Given the description of an element on the screen output the (x, y) to click on. 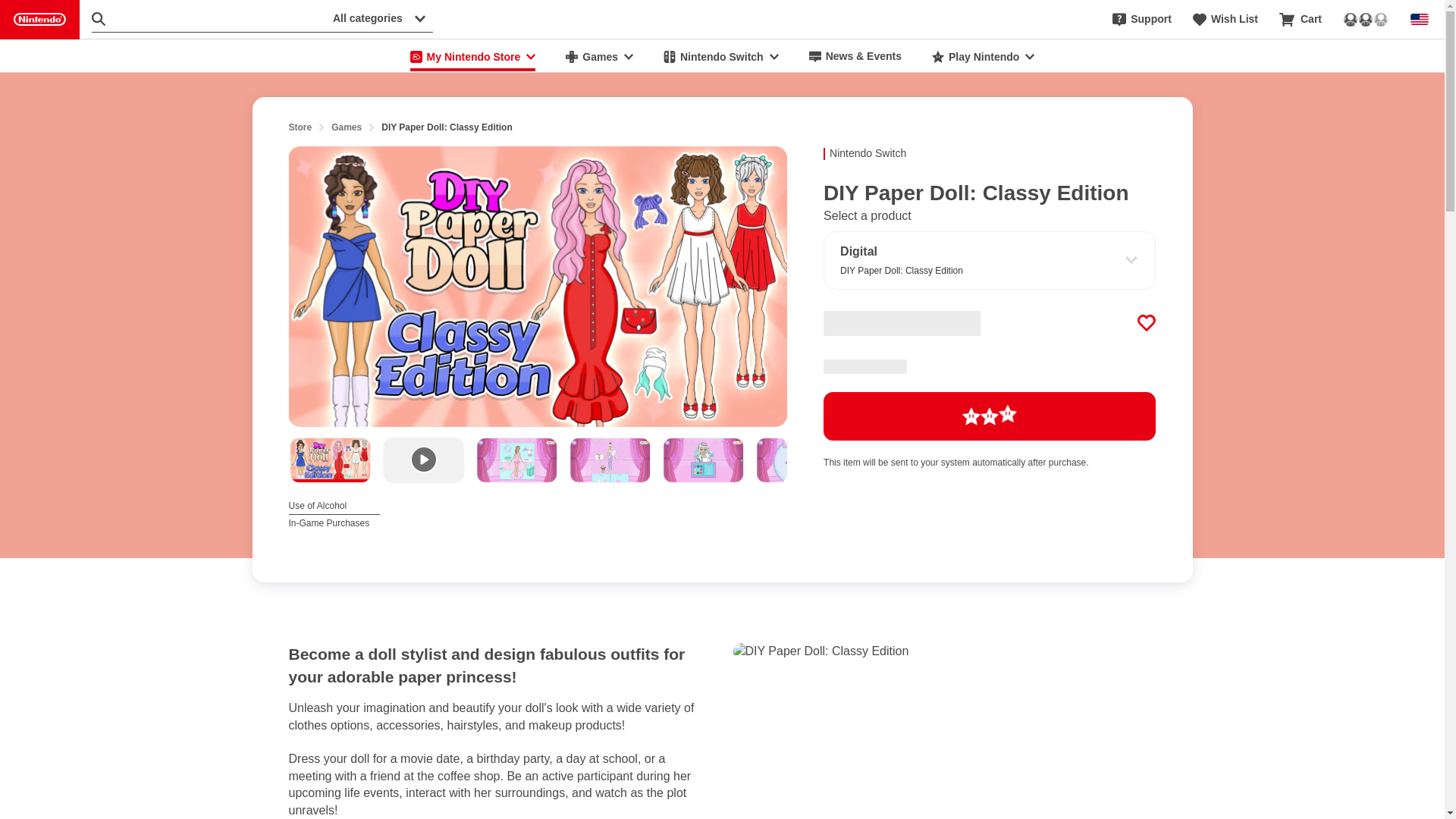
My Nintendo Store (472, 56)
Games (599, 56)
Nintendo (333, 513)
Cart (40, 19)
Wish List (1300, 19)
Store (1224, 19)
Games (299, 127)
Loading (346, 127)
Add to Wish List (990, 416)
